Given the description of an element on the screen output the (x, y) to click on. 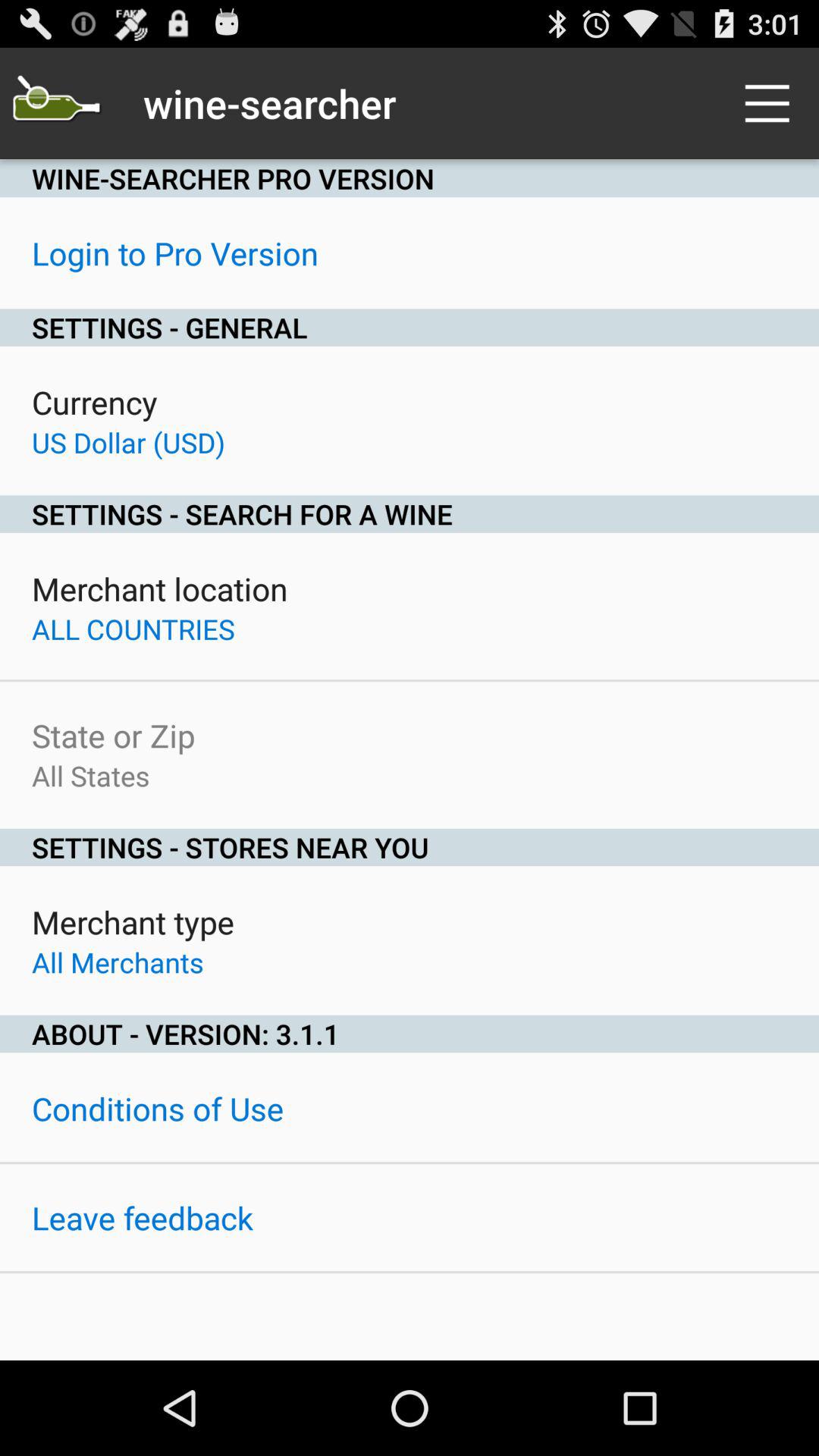
choose the icon below all merchants item (409, 1033)
